Given the description of an element on the screen output the (x, y) to click on. 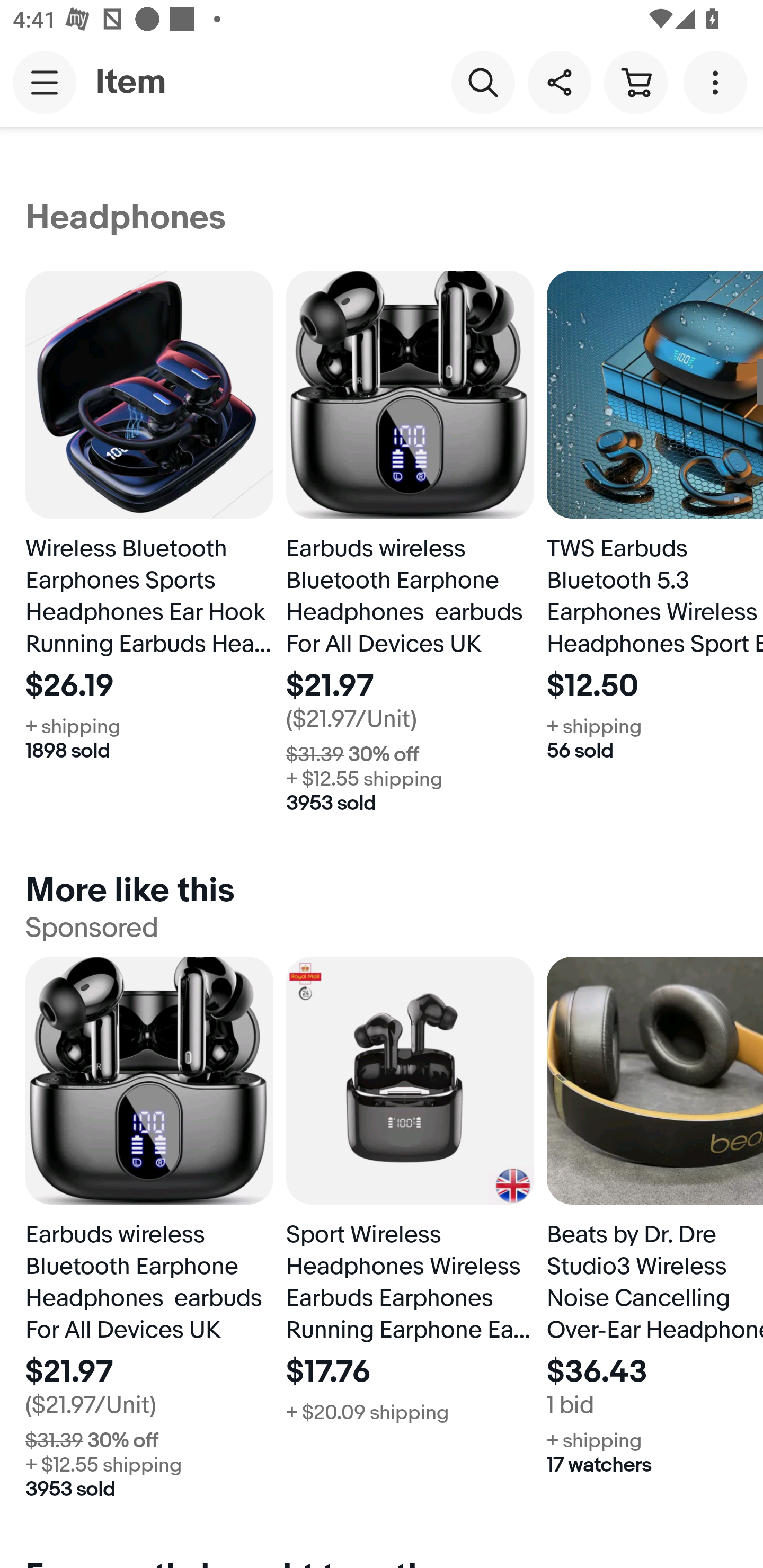
Main navigation, open (44, 82)
Search (482, 81)
Share this item (559, 81)
Cart button shopping cart (635, 81)
More options (718, 81)
